Given the description of an element on the screen output the (x, y) to click on. 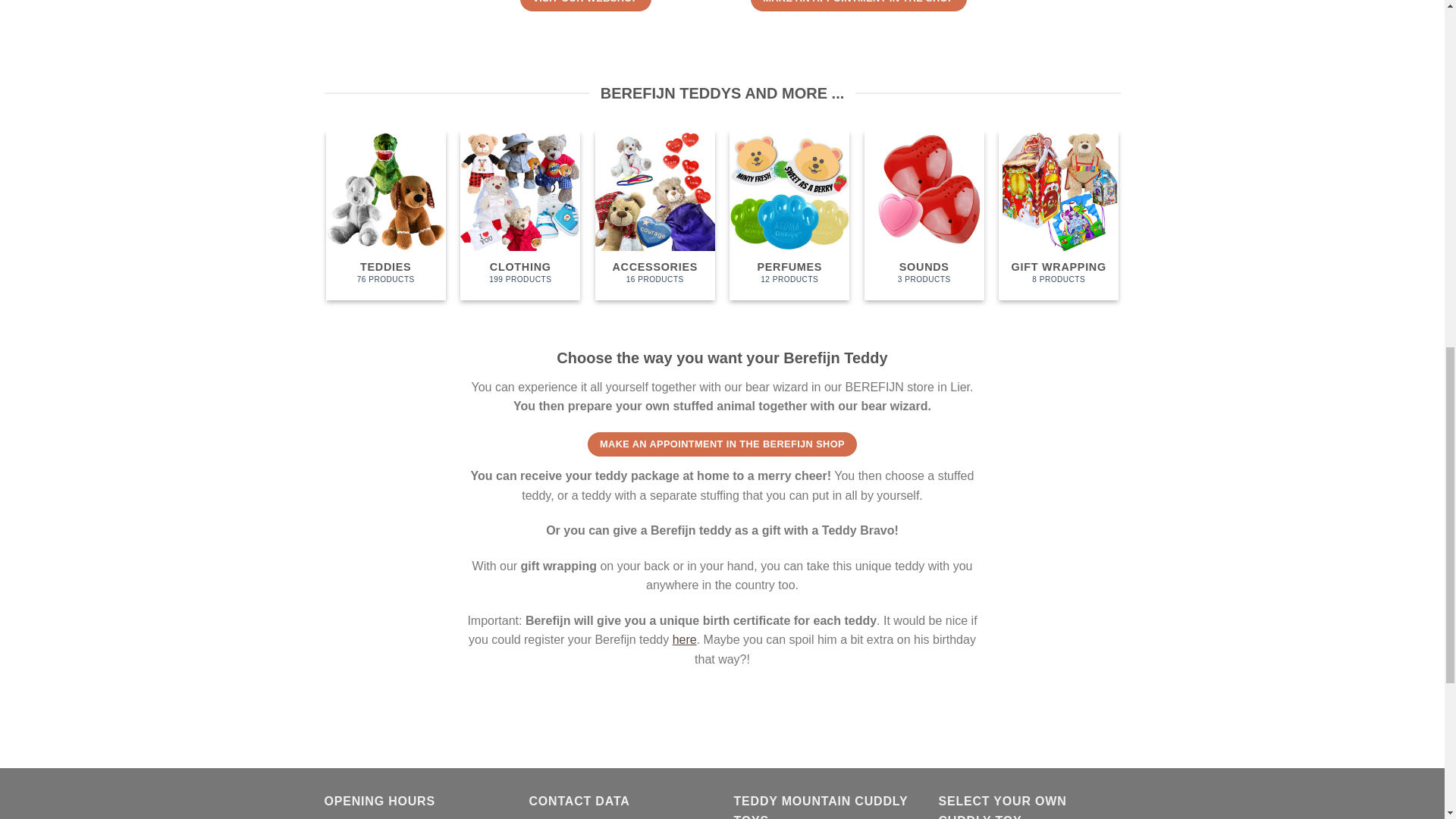
MAKE AN APPOINTMENT IN THE SHOP (654, 215)
VISIT OUR WEBSHOP (788, 215)
